Given the description of an element on the screen output the (x, y) to click on. 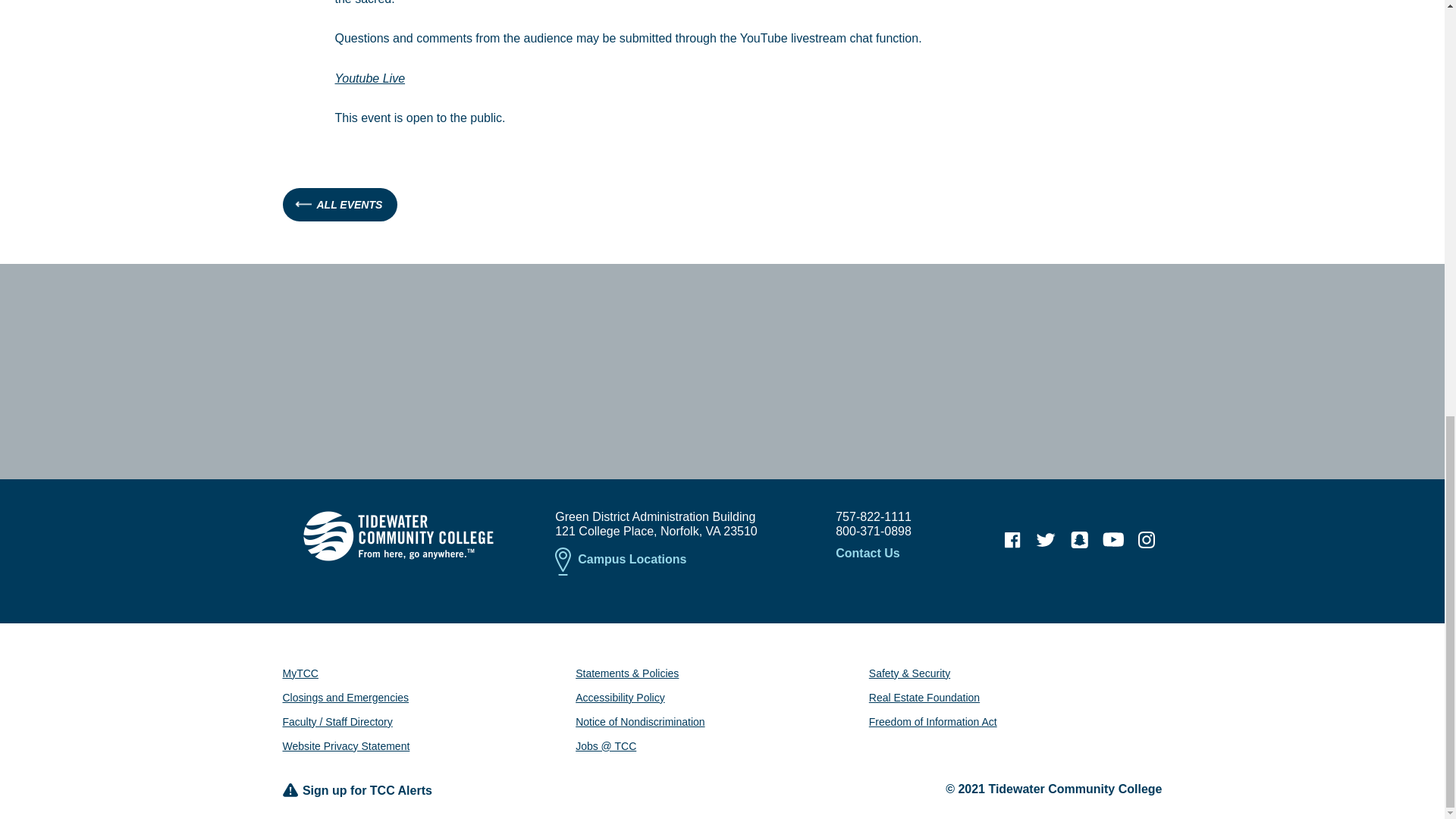
TCC on Facebook (1012, 539)
TCC on Twitter (1045, 539)
TCC on Snapchat (1079, 539)
Tidewater Community College (398, 535)
TCC on YouTube (1112, 539)
TCC on Instagram (1146, 539)
